Given the description of an element on the screen output the (x, y) to click on. 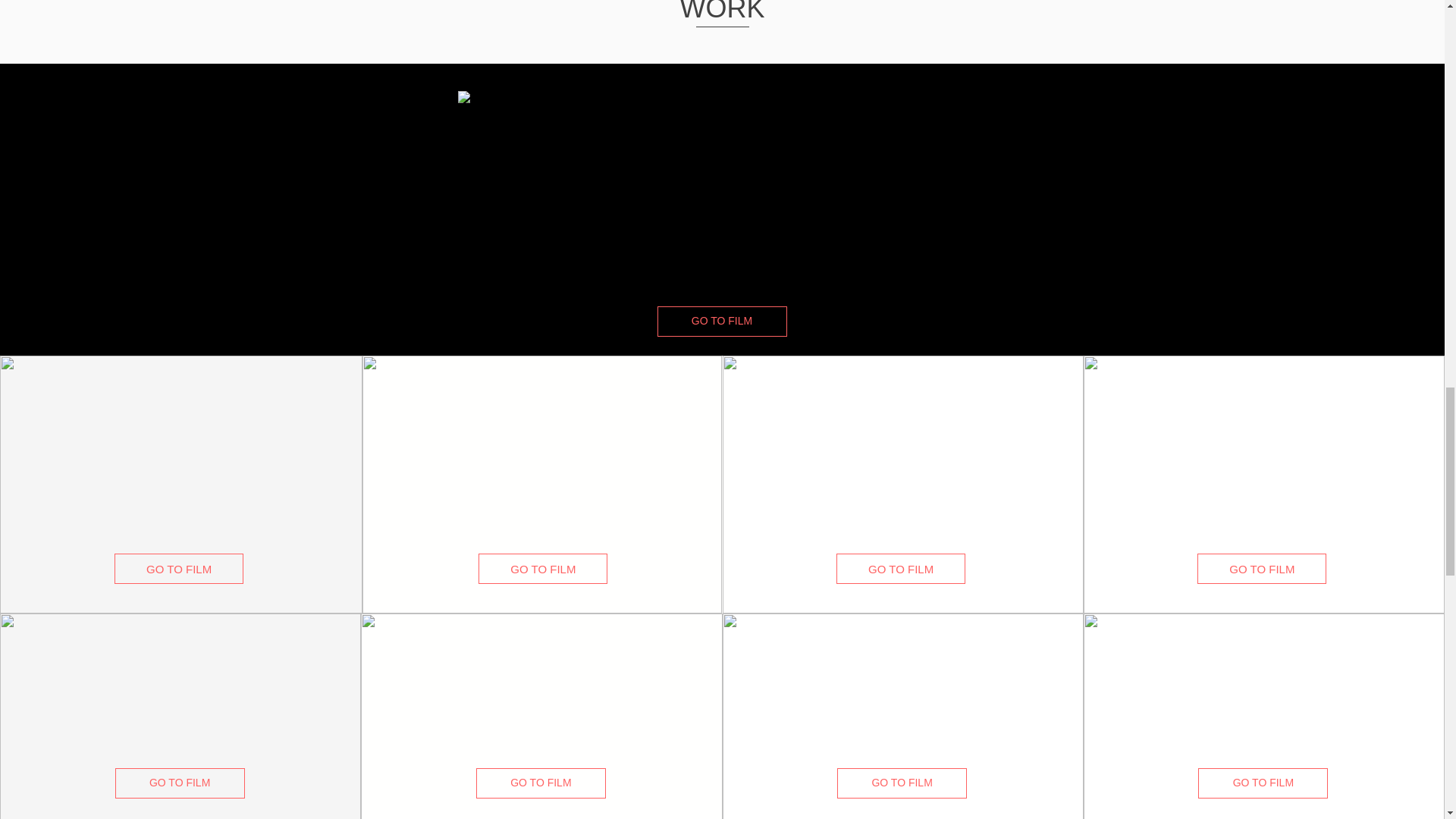
GO TO FILM (543, 568)
GO TO FILM (540, 783)
GO TO FILM (1261, 568)
GO TO FILM (721, 321)
GO TO FILM (179, 568)
GO TO FILM (900, 568)
GO TO FILM (901, 783)
GO TO FILM (1262, 783)
GO TO FILM (179, 783)
